Given the description of an element on the screen output the (x, y) to click on. 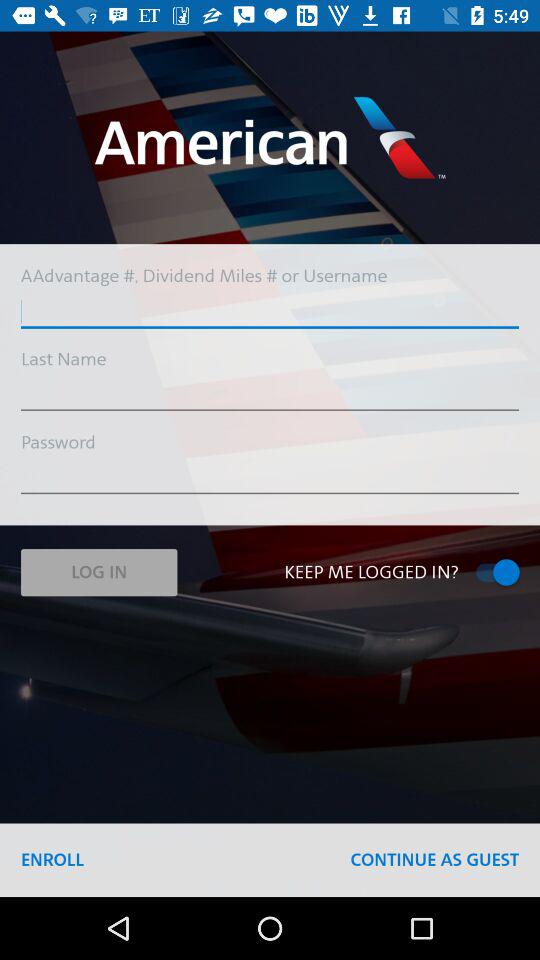
tap the icon at the bottom left corner (52, 859)
